Given the description of an element on the screen output the (x, y) to click on. 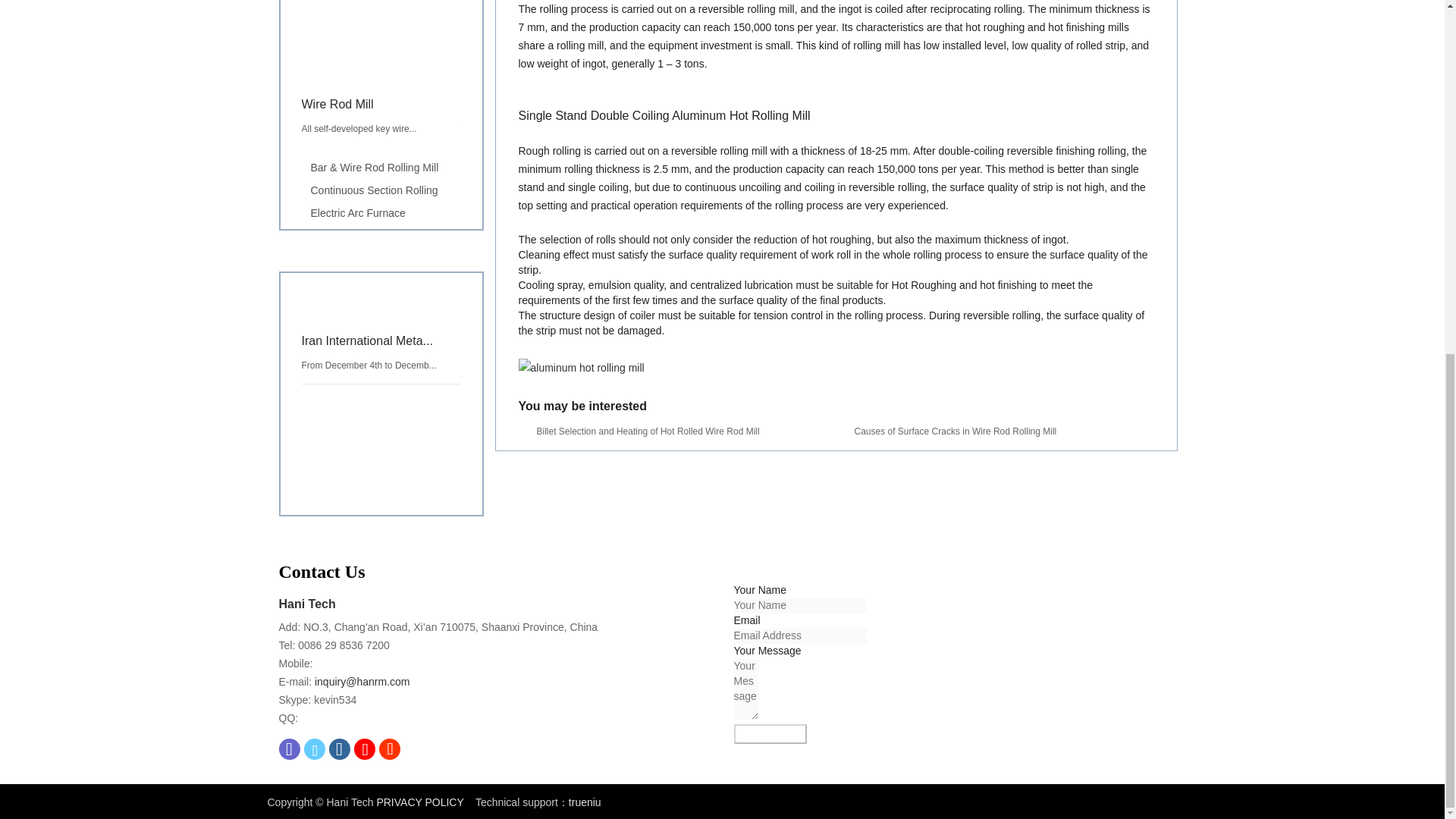
InterMediate Rolling MIll (381, 236)
google (363, 751)
Electric Arc Furnace (381, 213)
youtube (389, 750)
facebook (381, 73)
Continuous Section Rolling (289, 751)
linkedin (381, 190)
twitter (339, 751)
